Given the description of an element on the screen output the (x, y) to click on. 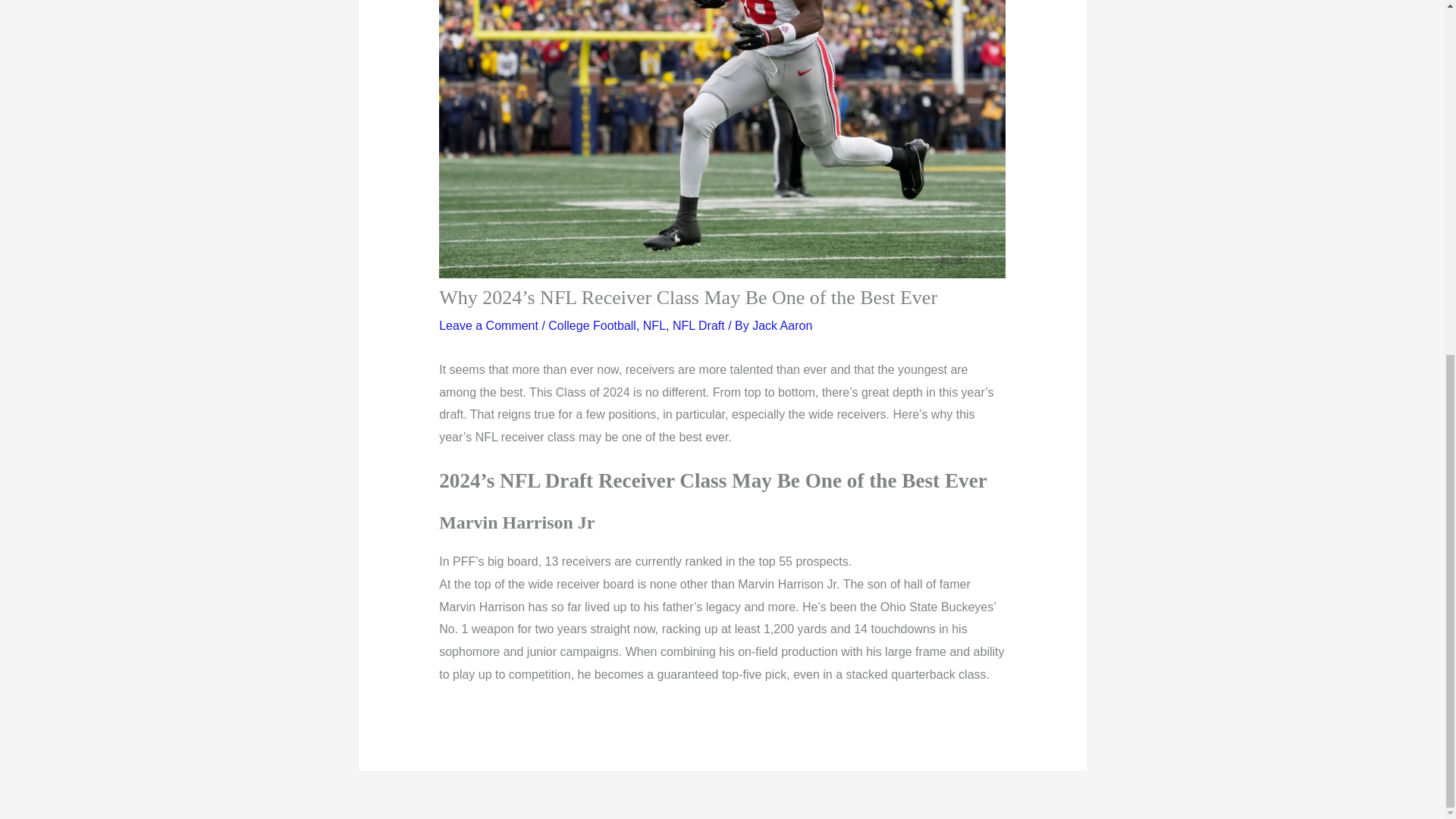
College Football (592, 325)
Leave a Comment (488, 325)
NFL Draft (698, 325)
Jack Aaron (782, 325)
NFL (654, 325)
View all posts by Jack Aaron (782, 325)
